Given the description of an element on the screen output the (x, y) to click on. 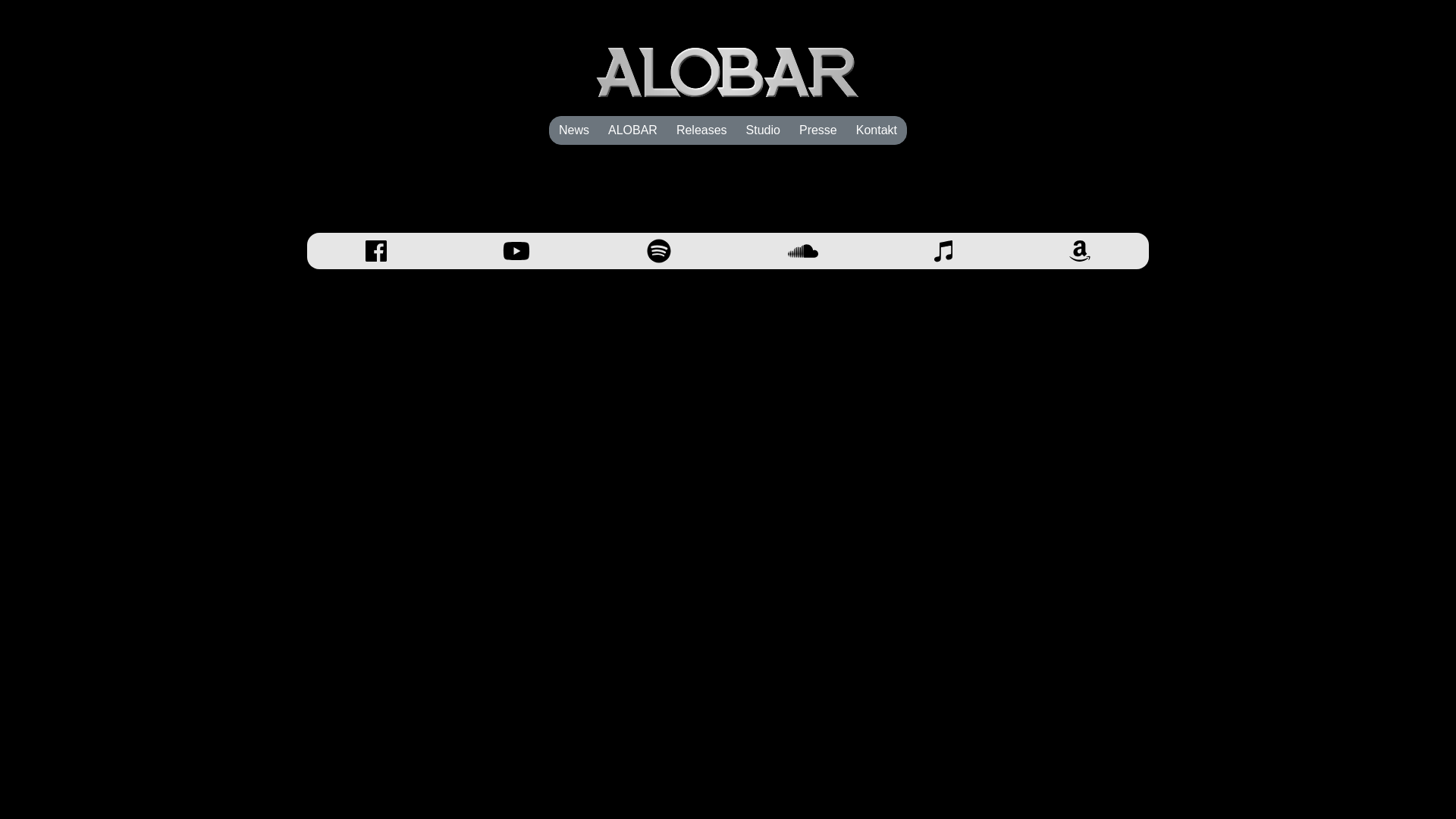
Releases Element type: text (701, 130)
Studio Element type: text (763, 130)
Kontakt Element type: text (876, 130)
News Element type: text (574, 130)
ALOBAR Element type: text (632, 130)
Presse Element type: text (818, 130)
